Given the description of an element on the screen output the (x, y) to click on. 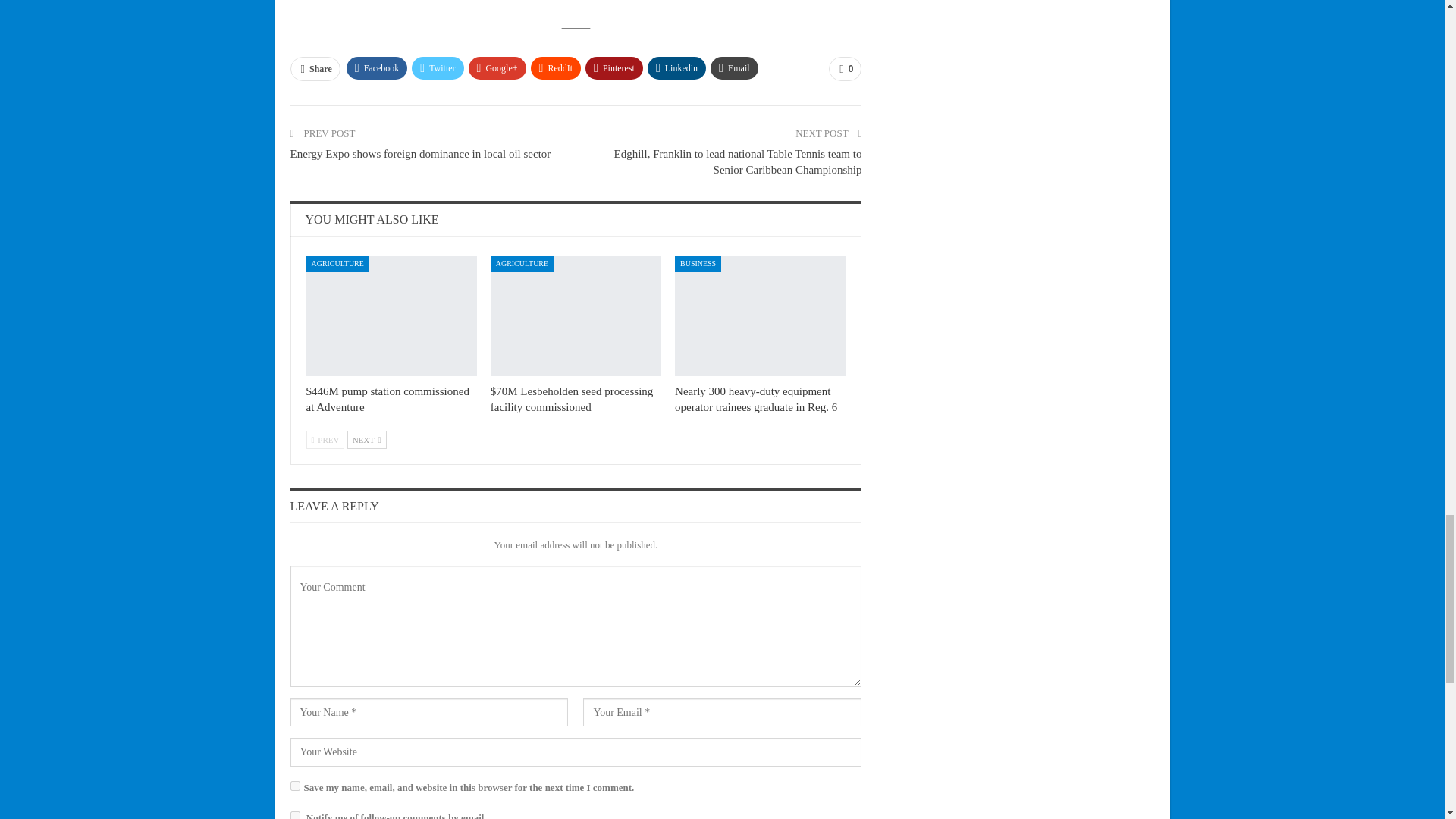
subscribe (294, 815)
yes (294, 786)
